Given the description of an element on the screen output the (x, y) to click on. 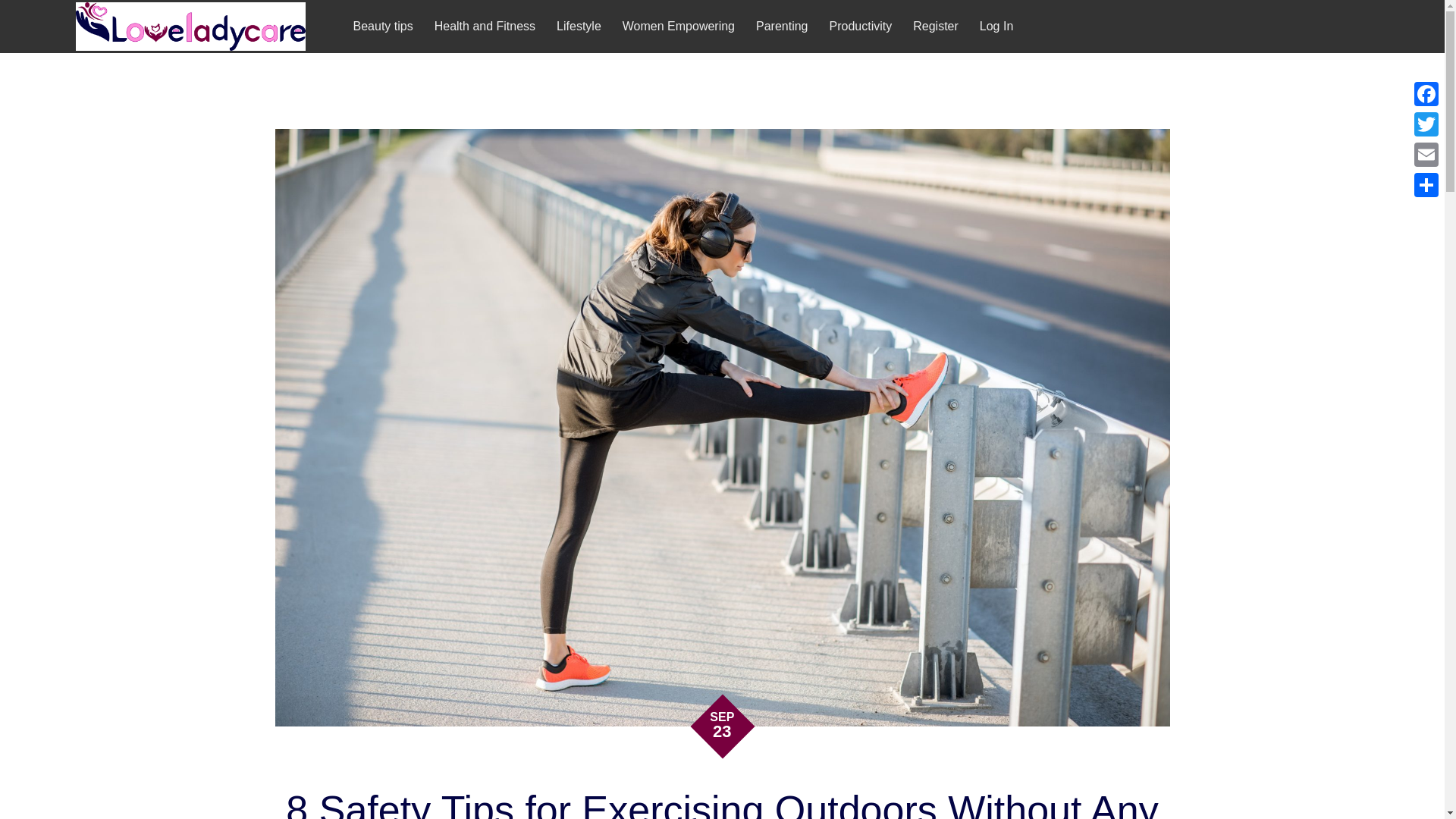
Lifestyle (578, 26)
Facebook (1425, 93)
Log In (996, 26)
Beauty tips (382, 26)
Health and Fitness (484, 26)
Register (936, 26)
Productivity (861, 26)
Email (1425, 154)
Twitter (1425, 123)
Women Empowering (678, 26)
Parenting (781, 26)
